Given the description of an element on the screen output the (x, y) to click on. 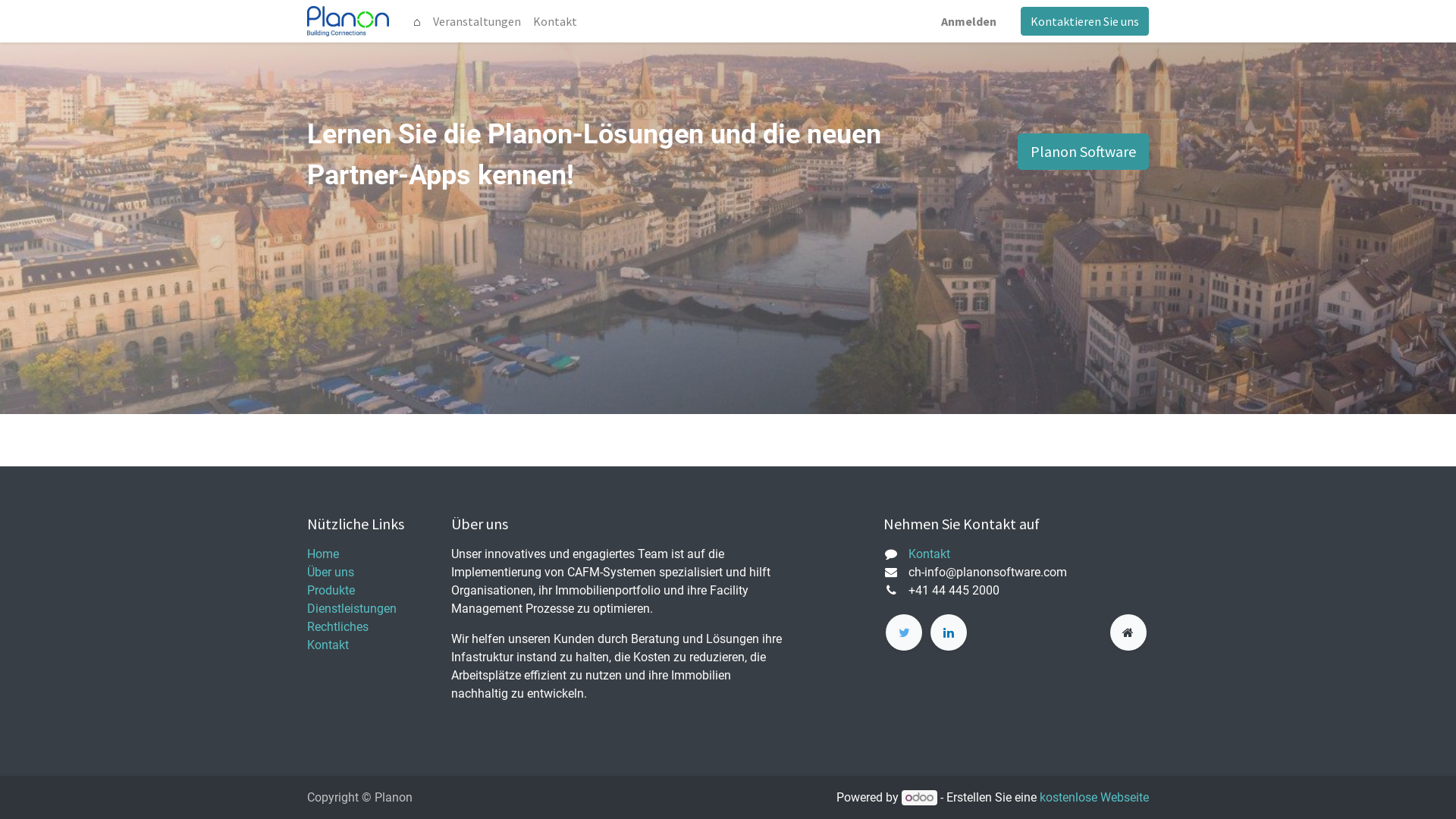
Anmelden Element type: text (968, 21)
Kontaktieren Sie uns Element type: text (1084, 20)
Planon Software Element type: text (1082, 151)
kostenlose Webseite Element type: text (1093, 797)
Rechtliches Element type: text (337, 626)
Kontakt Element type: text (327, 644)
Produkte Element type: text (330, 590)
Dienstleistungen Element type: text (351, 608)
Home Element type: text (322, 553)
Kontakt Element type: text (929, 553)
Info Element type: hover (348, 21)
Kontakt Element type: text (555, 21)
Veranstaltungen Element type: text (476, 21)
